Given the description of an element on the screen output the (x, y) to click on. 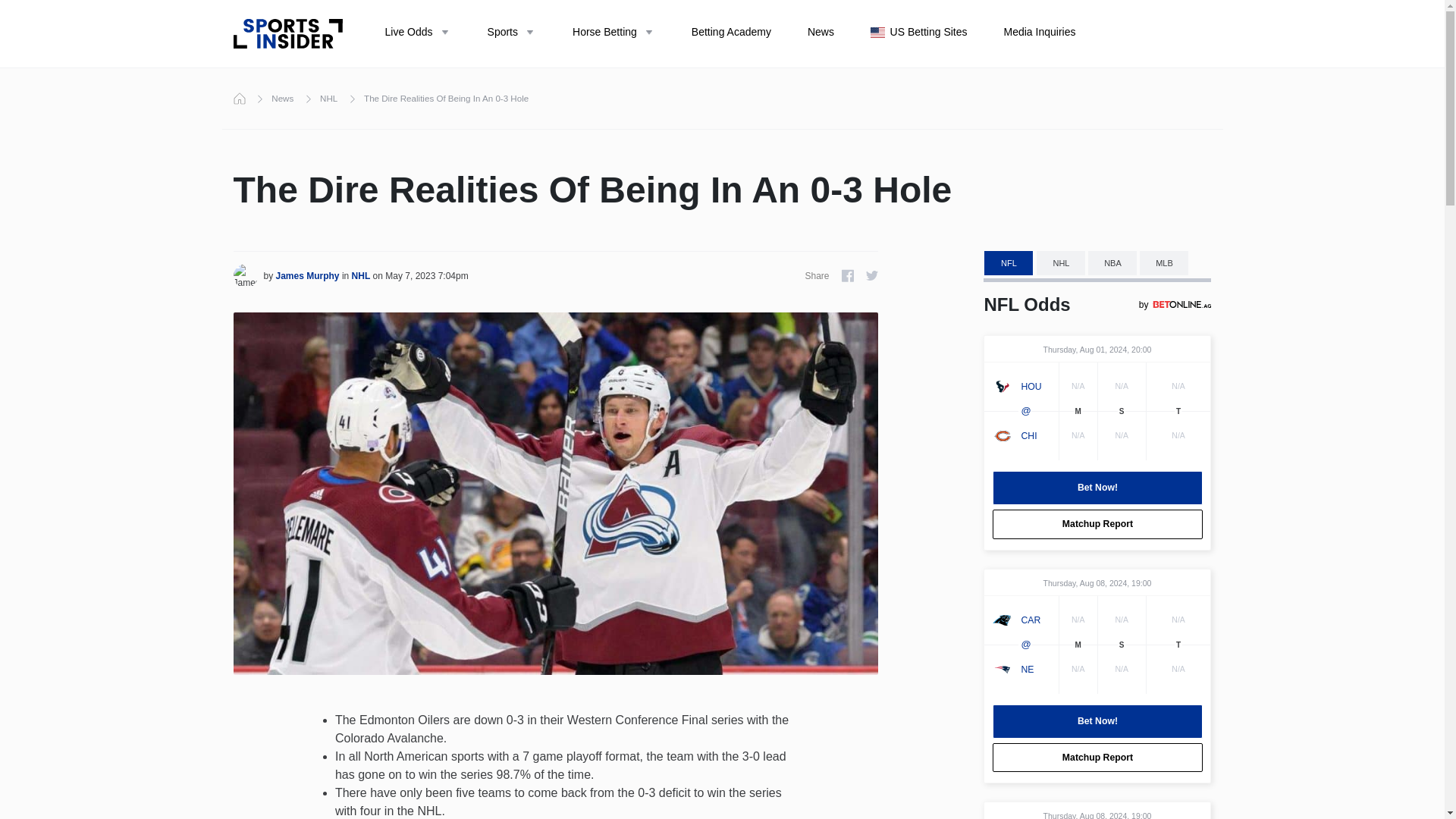
Live Odds (417, 33)
Sports (511, 33)
Sports (511, 33)
Live Odds (417, 33)
